Given the description of an element on the screen output the (x, y) to click on. 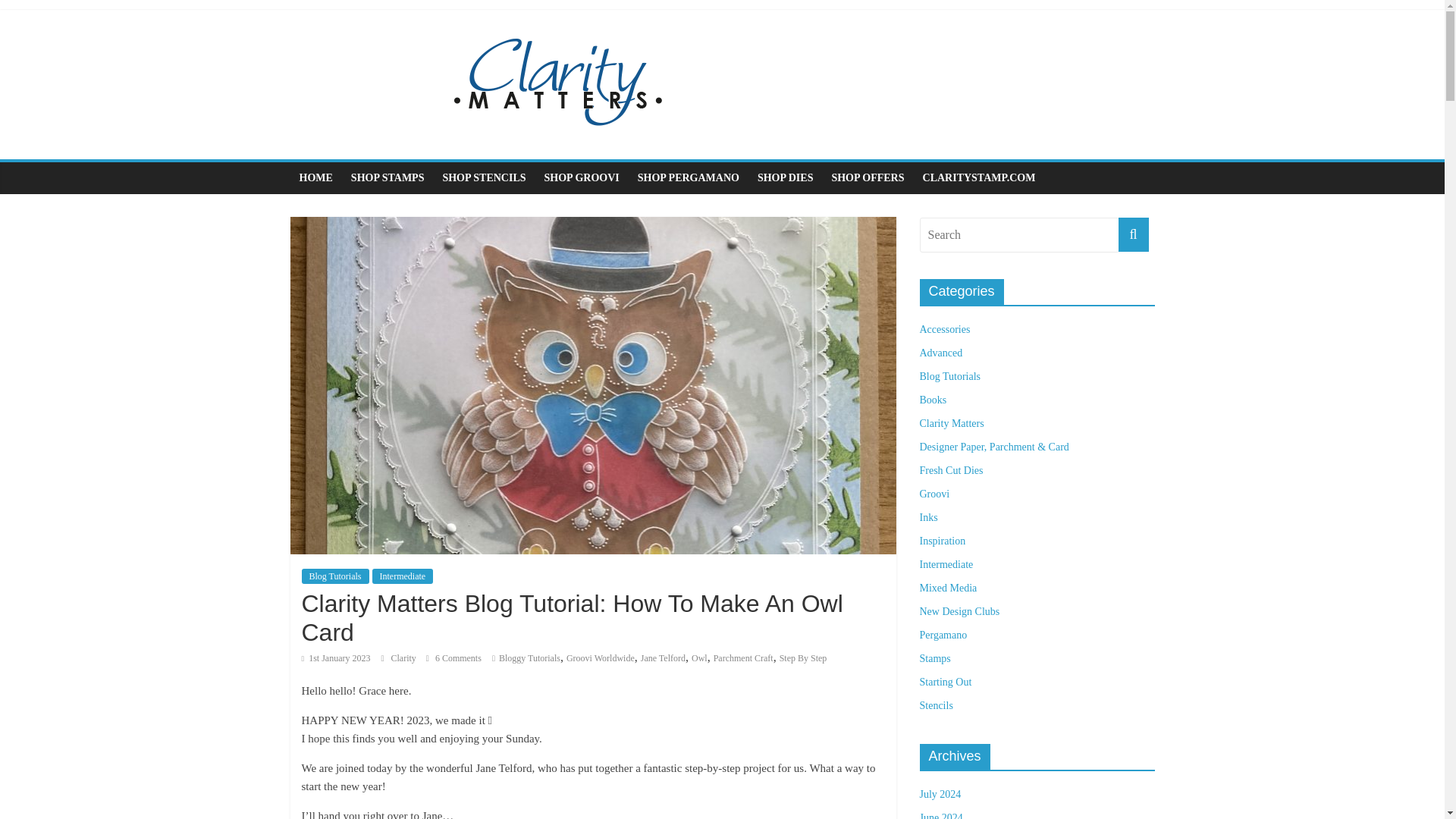
Groovi Worldwide (600, 657)
Blog Tutorials (335, 575)
Jane Telford (662, 657)
HOME (314, 178)
SHOP DIES (785, 178)
6 Comments (453, 657)
1st January 2023 (336, 657)
SHOP STAMPS (387, 178)
SHOP PERGAMANO (688, 178)
Owl (699, 657)
Bloggy Tutorials (529, 657)
CLARITYSTAMP.COM (979, 178)
SHOP OFFERS (867, 178)
Parchment Craft (743, 657)
SHOP GROOVI (581, 178)
